Given the description of an element on the screen output the (x, y) to click on. 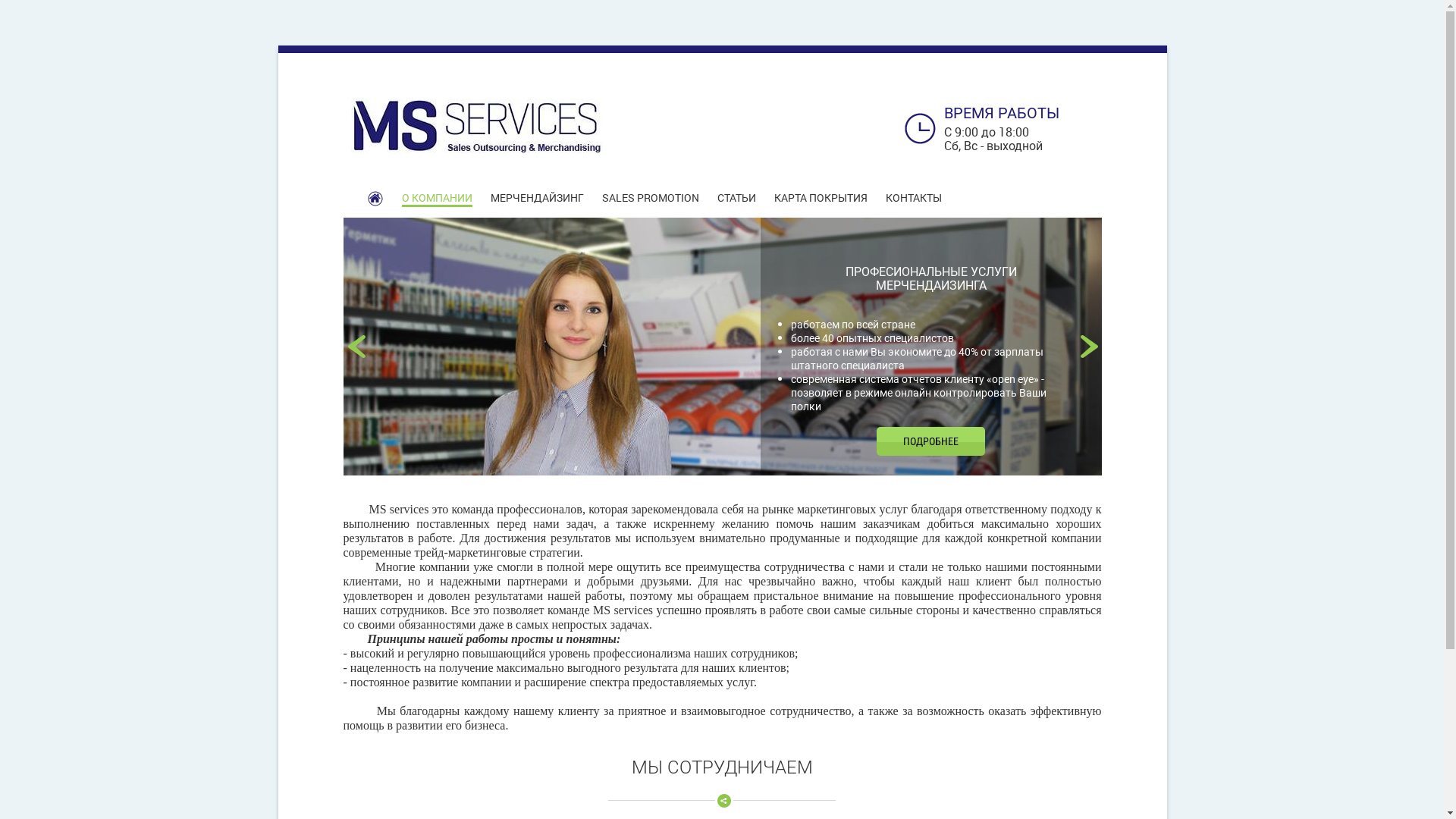
SALES PROMOTION Element type: text (650, 197)
